Given the description of an element on the screen output the (x, y) to click on. 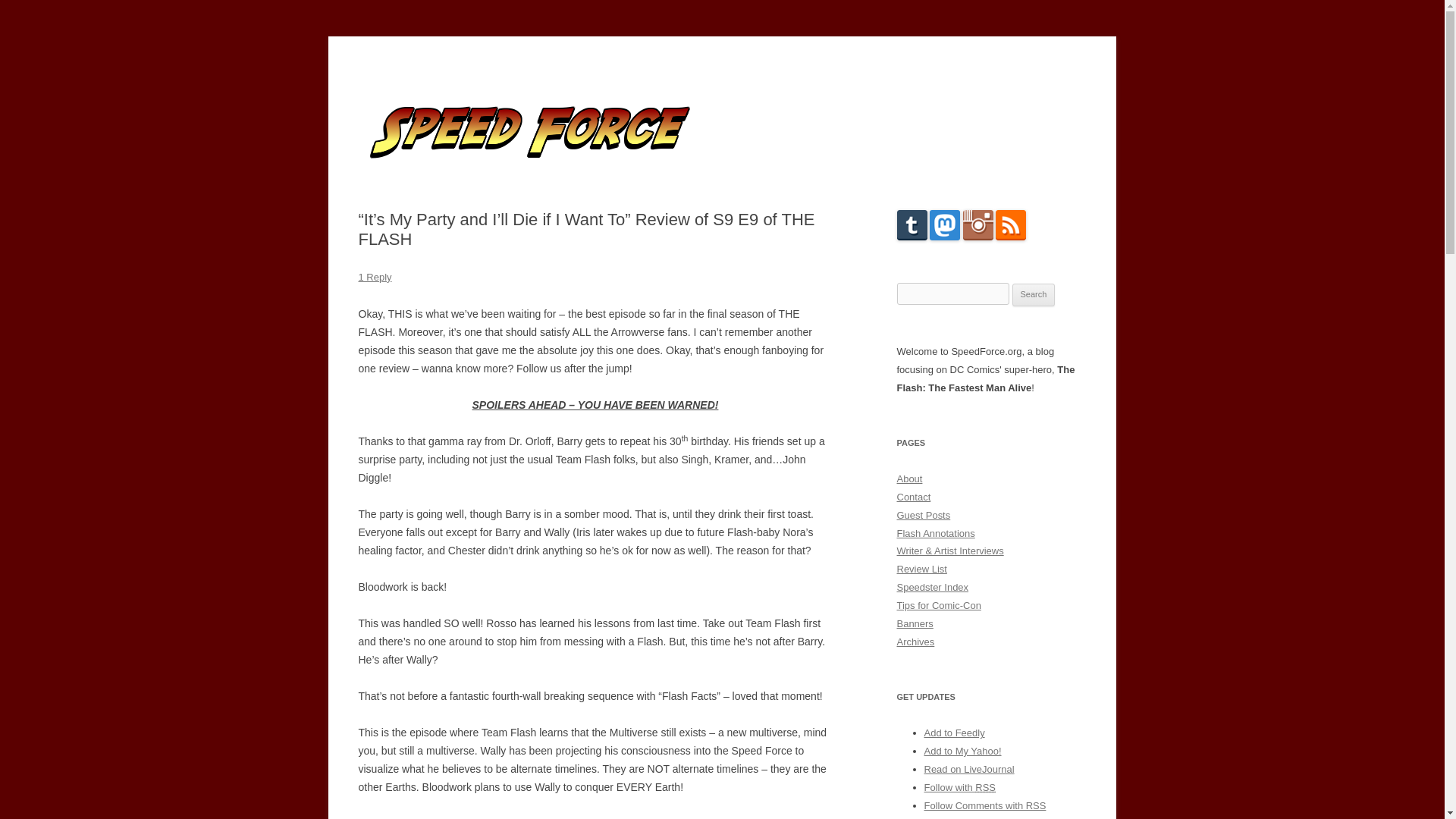
Tips for Comic-Con (937, 604)
Search (1033, 294)
Review List (921, 568)
1 Reply (374, 276)
About (908, 478)
Speed Force (417, 72)
Speedster Index (932, 586)
Add to My Yahoo! (962, 750)
Banners (914, 623)
